Given the description of an element on the screen output the (x, y) to click on. 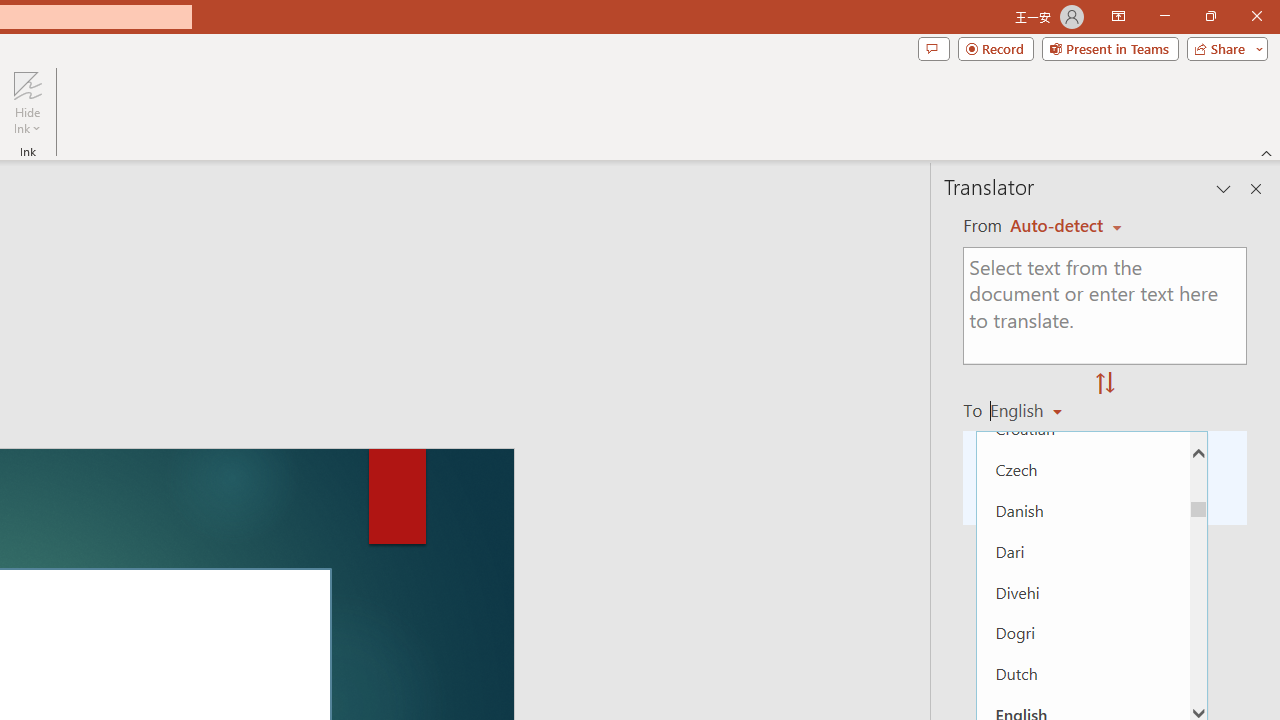
Chinese Simplified (1083, 346)
